Given the description of an element on the screen output the (x, y) to click on. 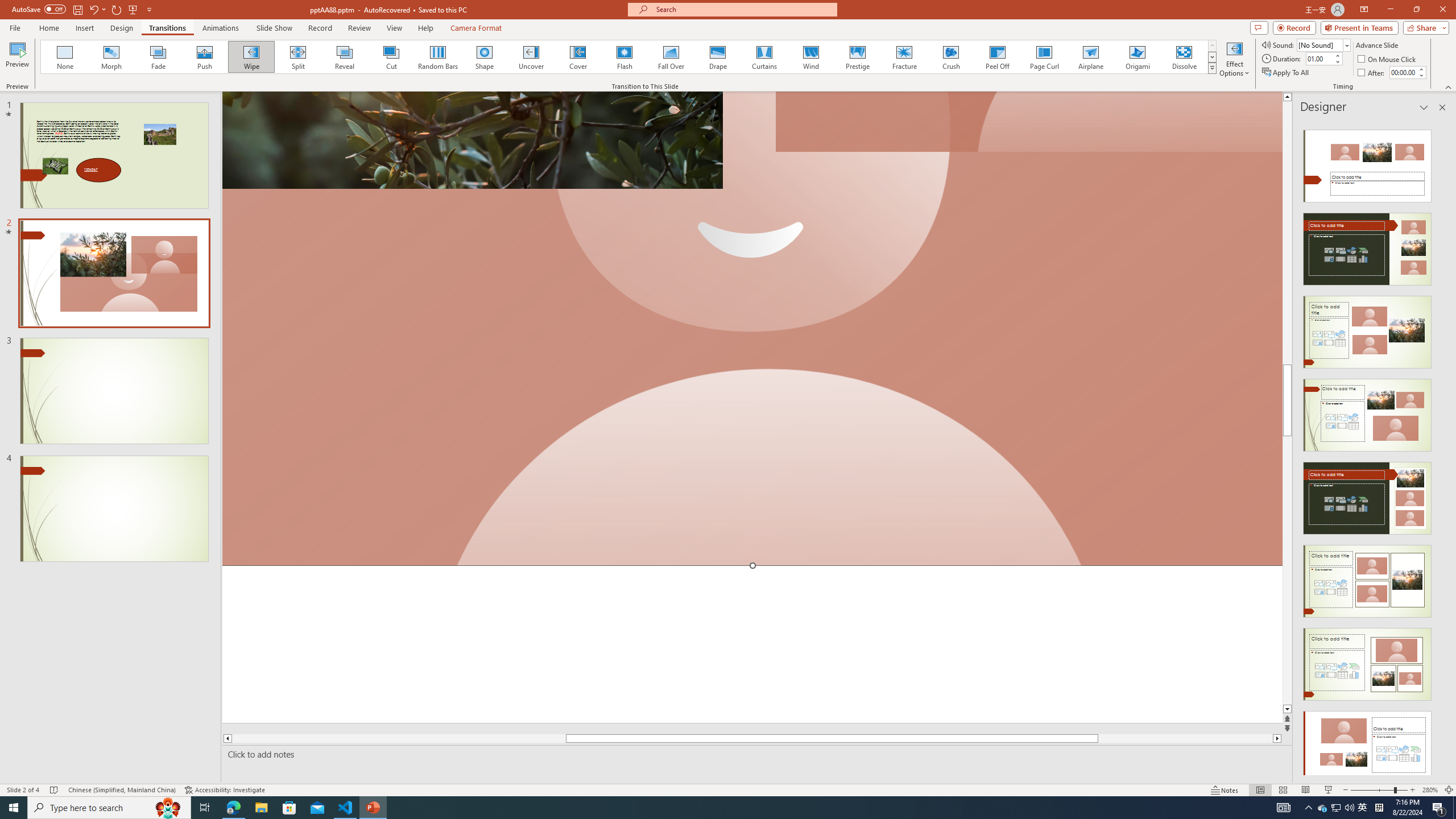
Animations (220, 28)
Camera 7, No camera detected. (1028, 122)
Undo (92, 9)
Row up (1212, 45)
File Tab (15, 27)
Class: MsoCommandBar (728, 789)
Peel Off (997, 56)
After (1403, 72)
Morph (111, 56)
Origami (1136, 56)
Record (320, 28)
Zoom In (1412, 790)
Less (1420, 75)
Fracture (903, 56)
Transitions (167, 28)
